Given the description of an element on the screen output the (x, y) to click on. 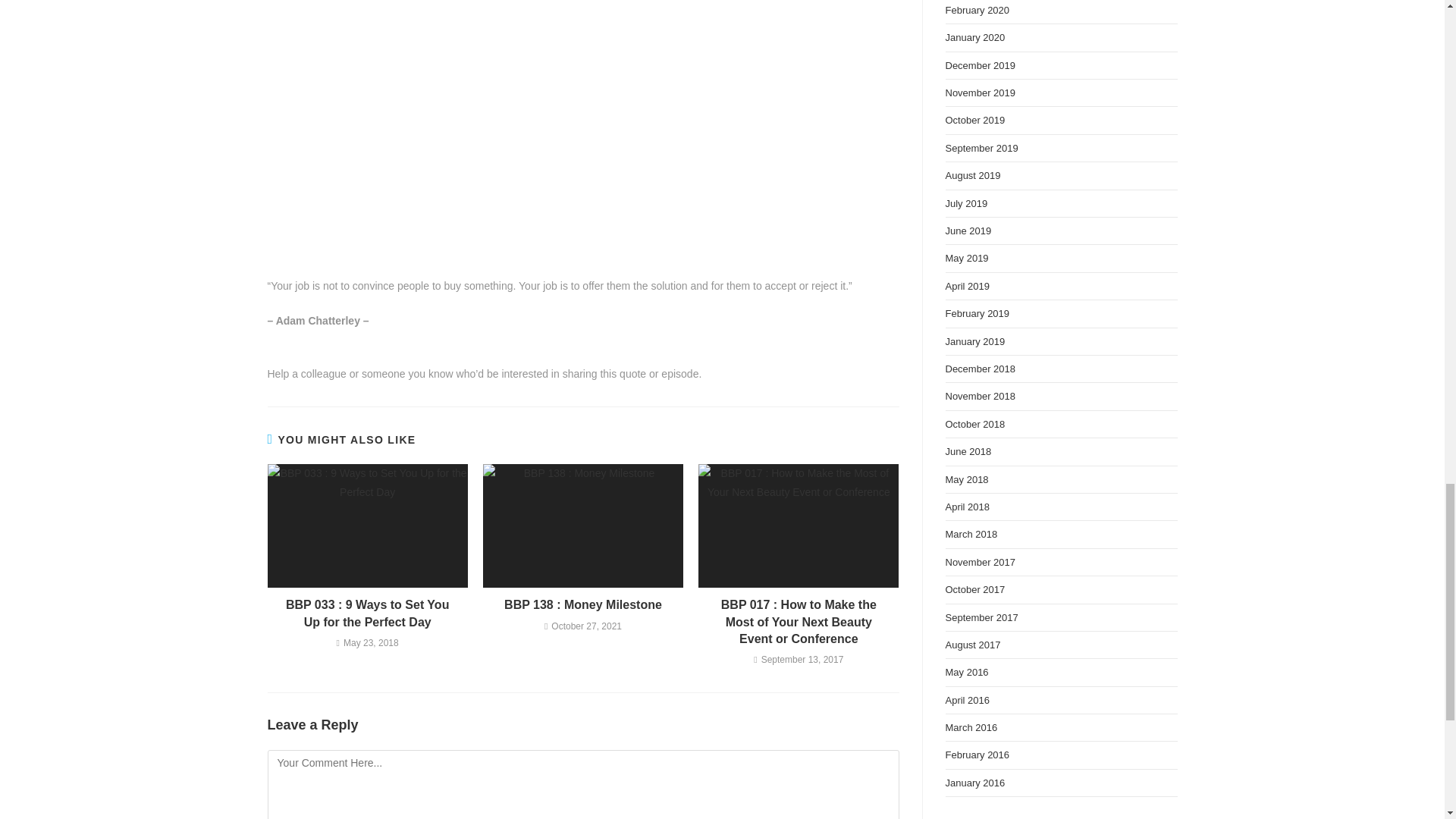
BBP 138 : Money Milestone (583, 605)
BBP 033 : 9 Ways to Set You Up for the Perfect Day (367, 613)
BBP 033 : 9 Ways to Set You Up for the Perfect Day (367, 613)
BBP 138 : Money Milestone (583, 605)
